Given the description of an element on the screen output the (x, y) to click on. 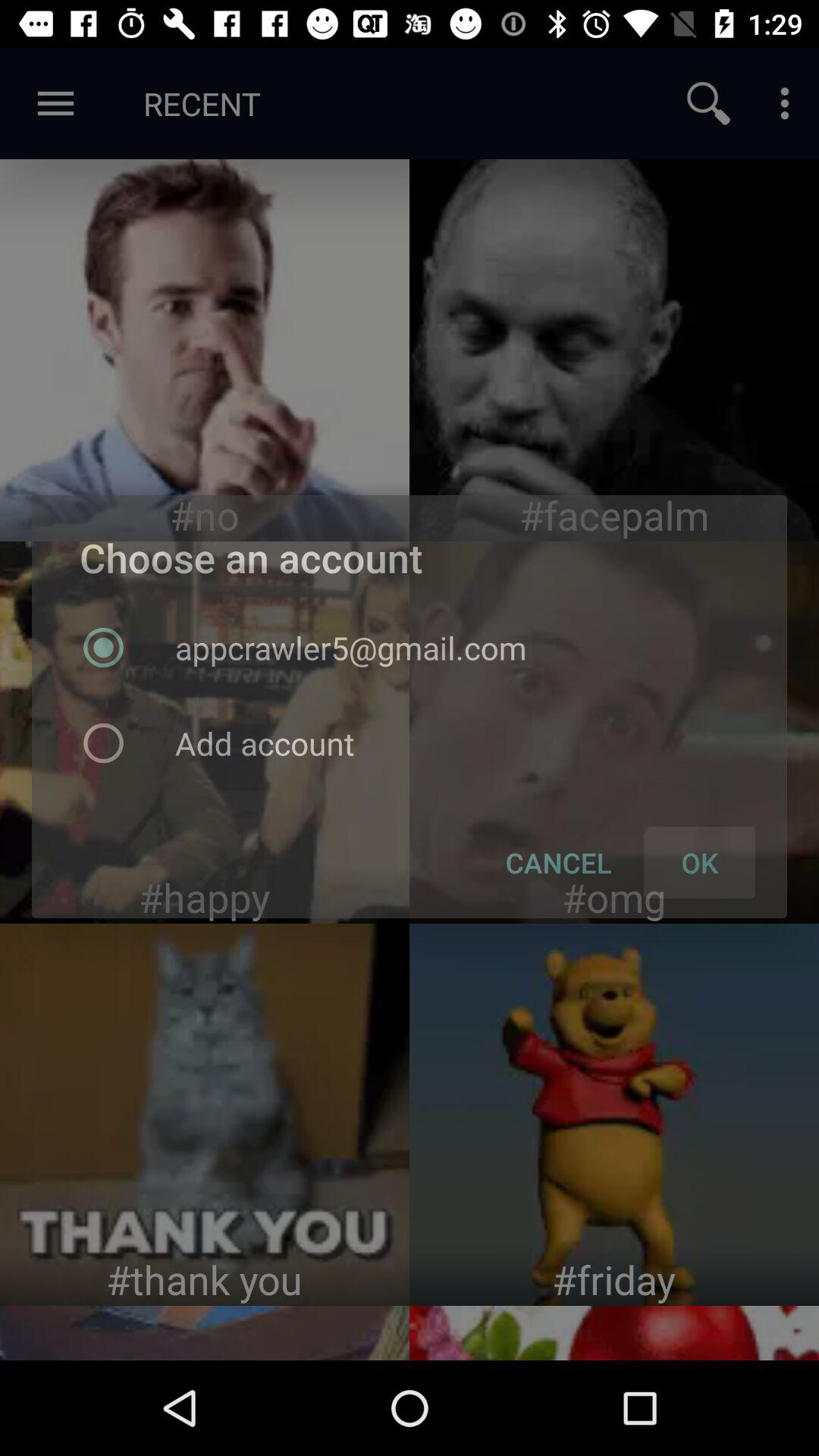
select element (614, 350)
